Given the description of an element on the screen output the (x, y) to click on. 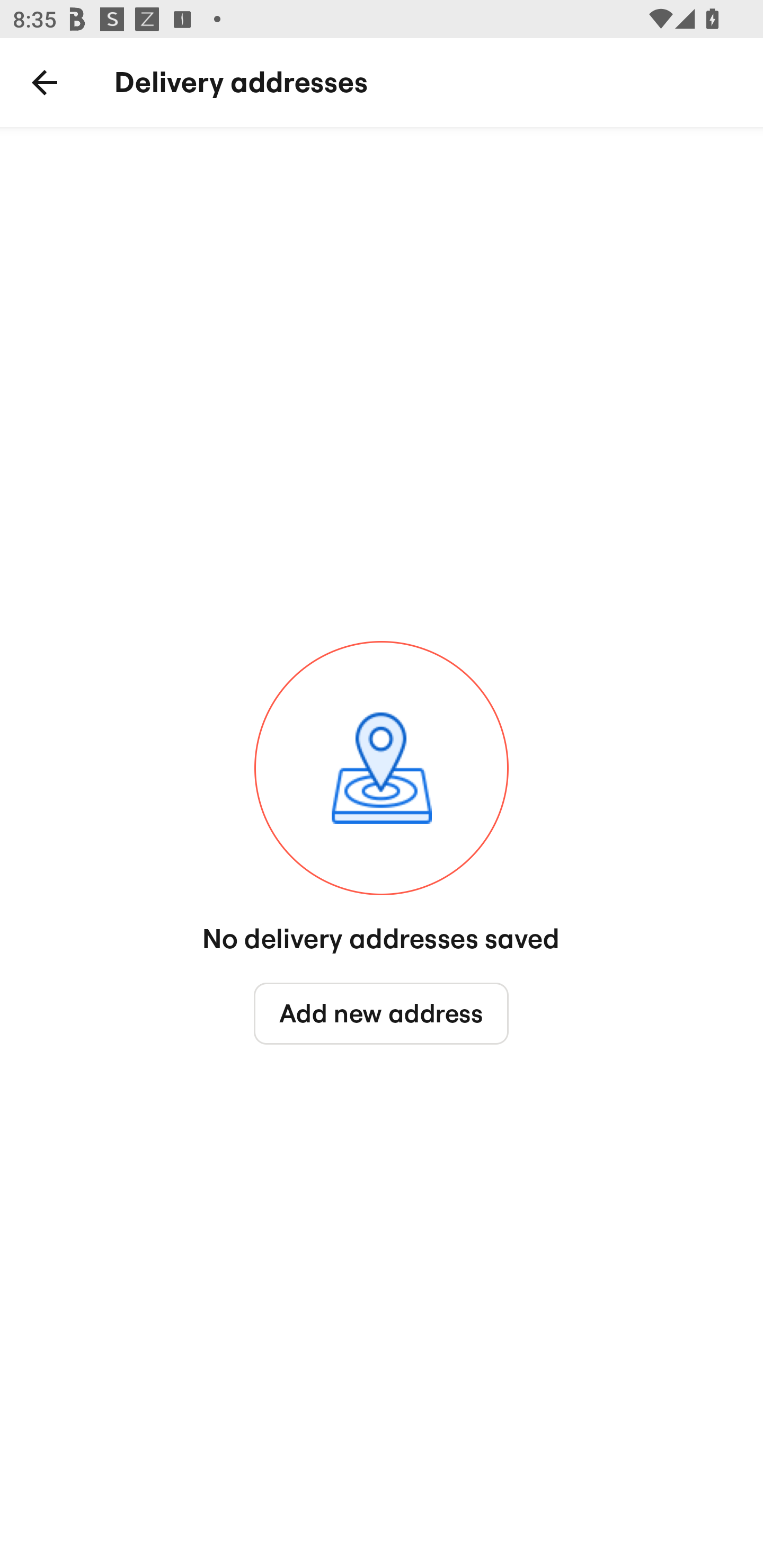
Back (44, 82)
Add new address (381, 1013)
